Given the description of an element on the screen output the (x, y) to click on. 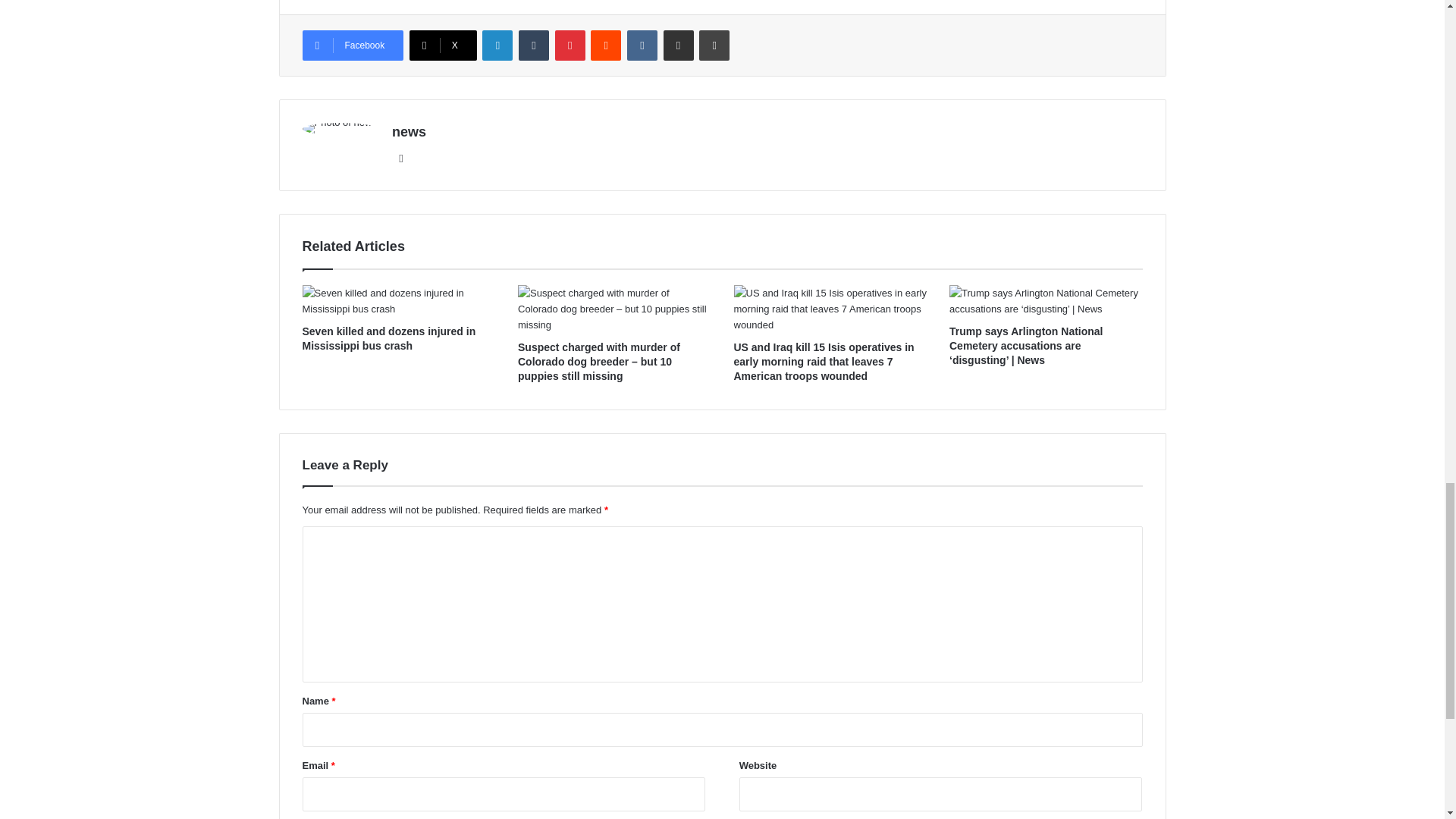
X (443, 45)
Tumblr (533, 45)
Print (713, 45)
Pinterest (569, 45)
Reddit (606, 45)
Seven killed and dozens injured in Mississippi bus crash (388, 338)
Share via Email (678, 45)
Tumblr (533, 45)
Reddit (606, 45)
